Given the description of an element on the screen output the (x, y) to click on. 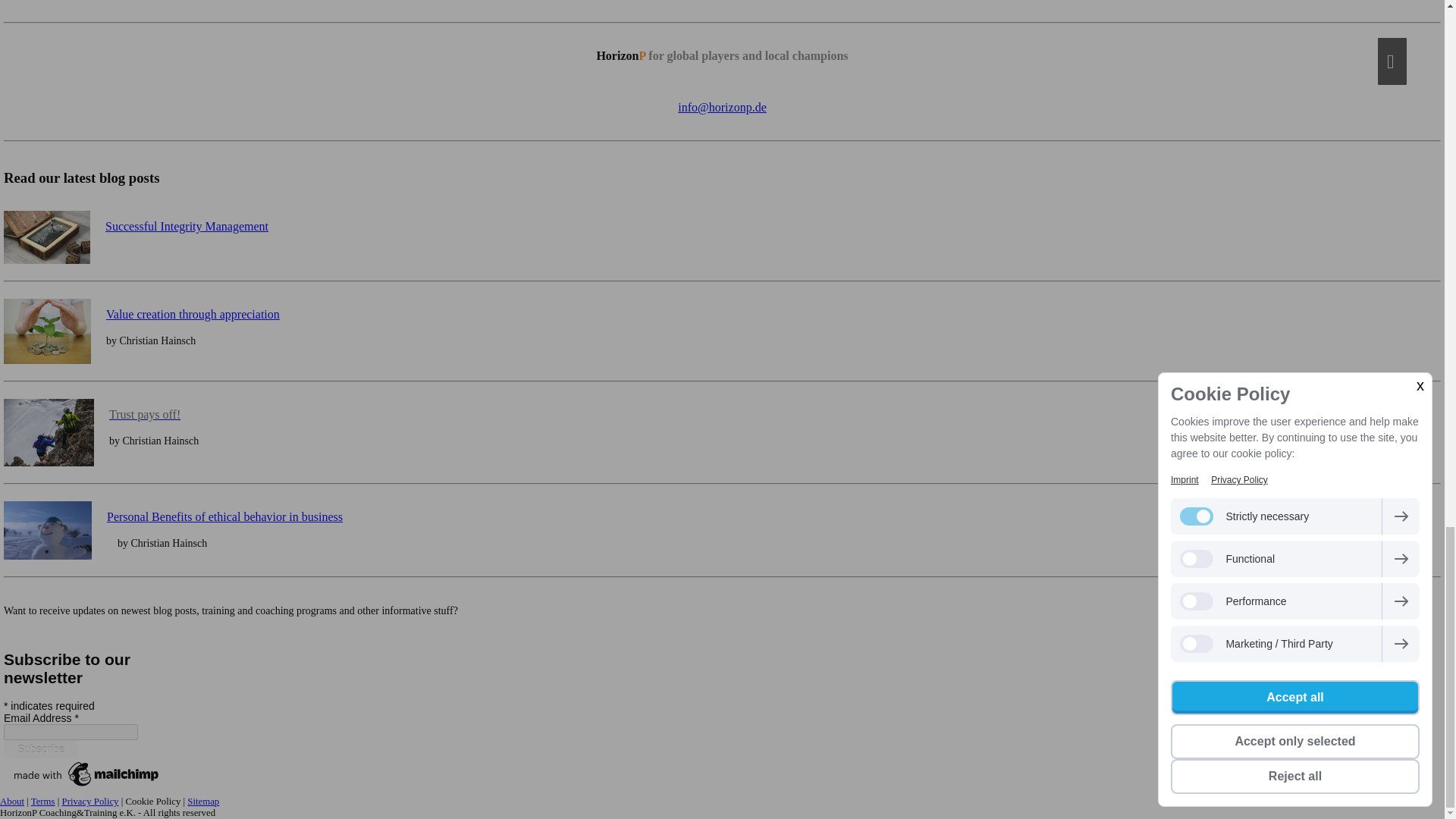
Successful integrity management in practice (185, 226)
Subscribe (41, 749)
Mailchimp - email marketing made easy and fun (87, 786)
